Given the description of an element on the screen output the (x, y) to click on. 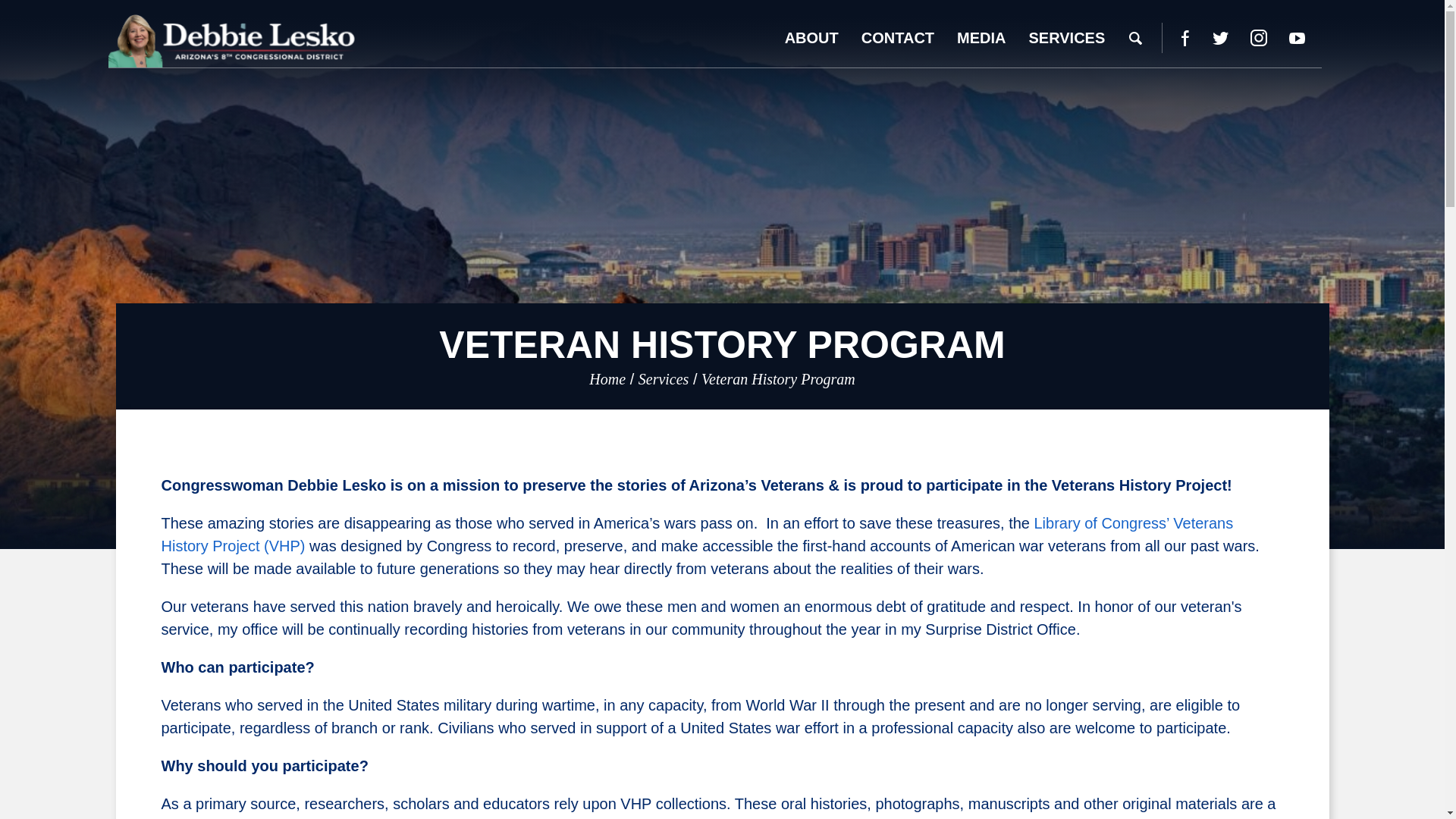
TWITTER (1219, 37)
SERVICES (1066, 38)
Home (607, 379)
CONTACT (897, 38)
Veteran History Program (778, 379)
FACEBOOK (1184, 37)
SEARCH (1135, 38)
YOUTUBE (1296, 37)
United States Congresswoman Debbie Lesko (231, 40)
Services (663, 379)
INSTAGRAM (1258, 37)
MEDIA (980, 38)
ABOUT (811, 38)
